Given the description of an element on the screen output the (x, y) to click on. 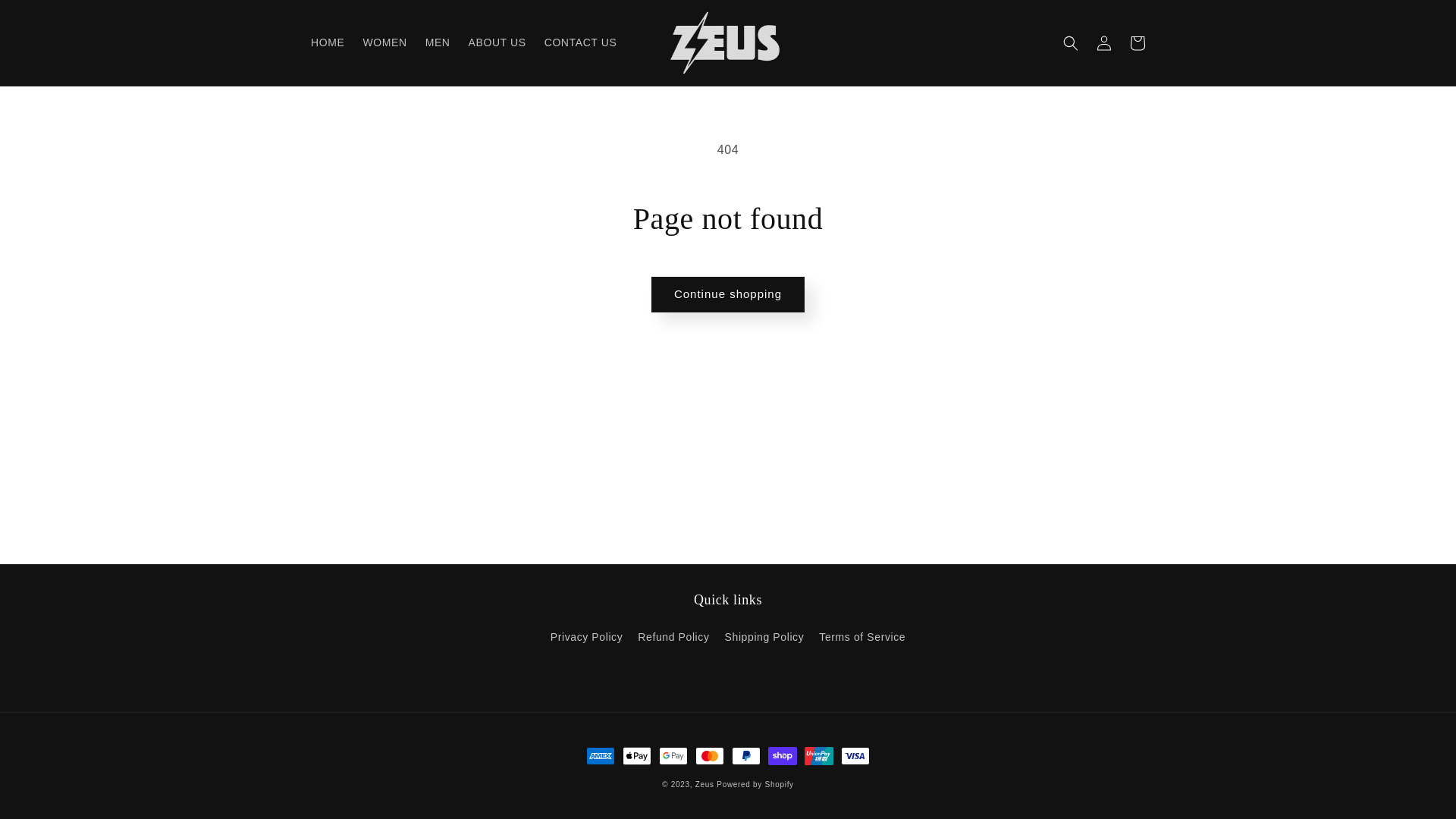
MEN Element type: text (437, 42)
Log in Element type: text (1103, 42)
Zeus Element type: text (706, 784)
Terms of Service Element type: text (862, 637)
HOME Element type: text (327, 42)
Refund Policy Element type: text (673, 637)
WOMEN Element type: text (384, 42)
ABOUT US Element type: text (497, 42)
Privacy Policy Element type: text (586, 638)
CONTACT US Element type: text (580, 42)
Powered by Shopify Element type: text (754, 784)
Shipping Policy Element type: text (764, 637)
Cart Element type: text (1137, 42)
Continue shopping Element type: text (727, 294)
